Given the description of an element on the screen output the (x, y) to click on. 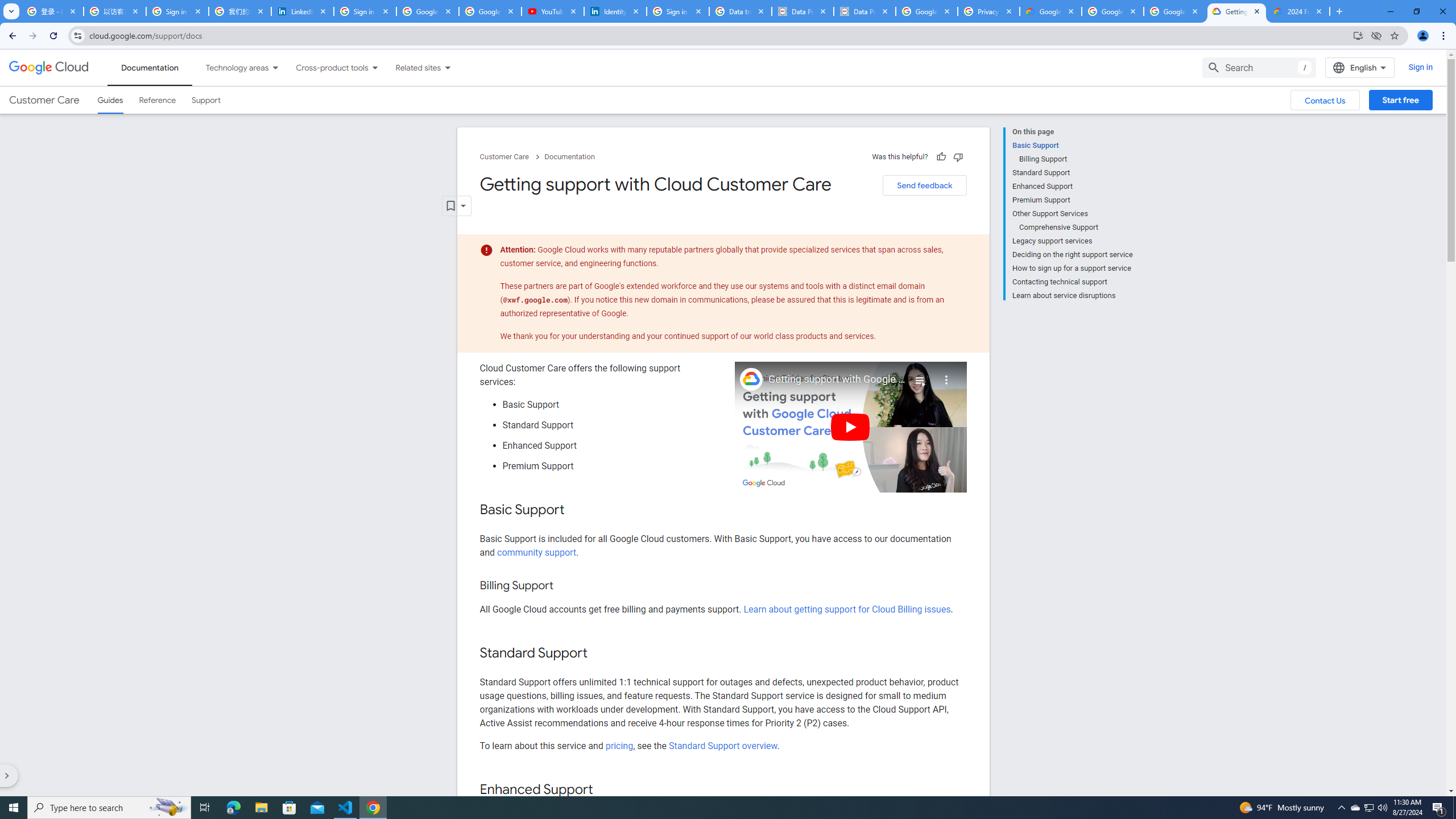
Open dropdown (456, 205)
How to sign up for a support service (1071, 268)
LinkedIn Privacy Policy (302, 11)
More (946, 375)
Copy link to this section: Billing Support (564, 585)
Data Privacy Framework (864, 11)
Customer Care (44, 100)
Guides, selected (109, 99)
Documentation, selected (149, 67)
Support (205, 99)
